Given the description of an element on the screen output the (x, y) to click on. 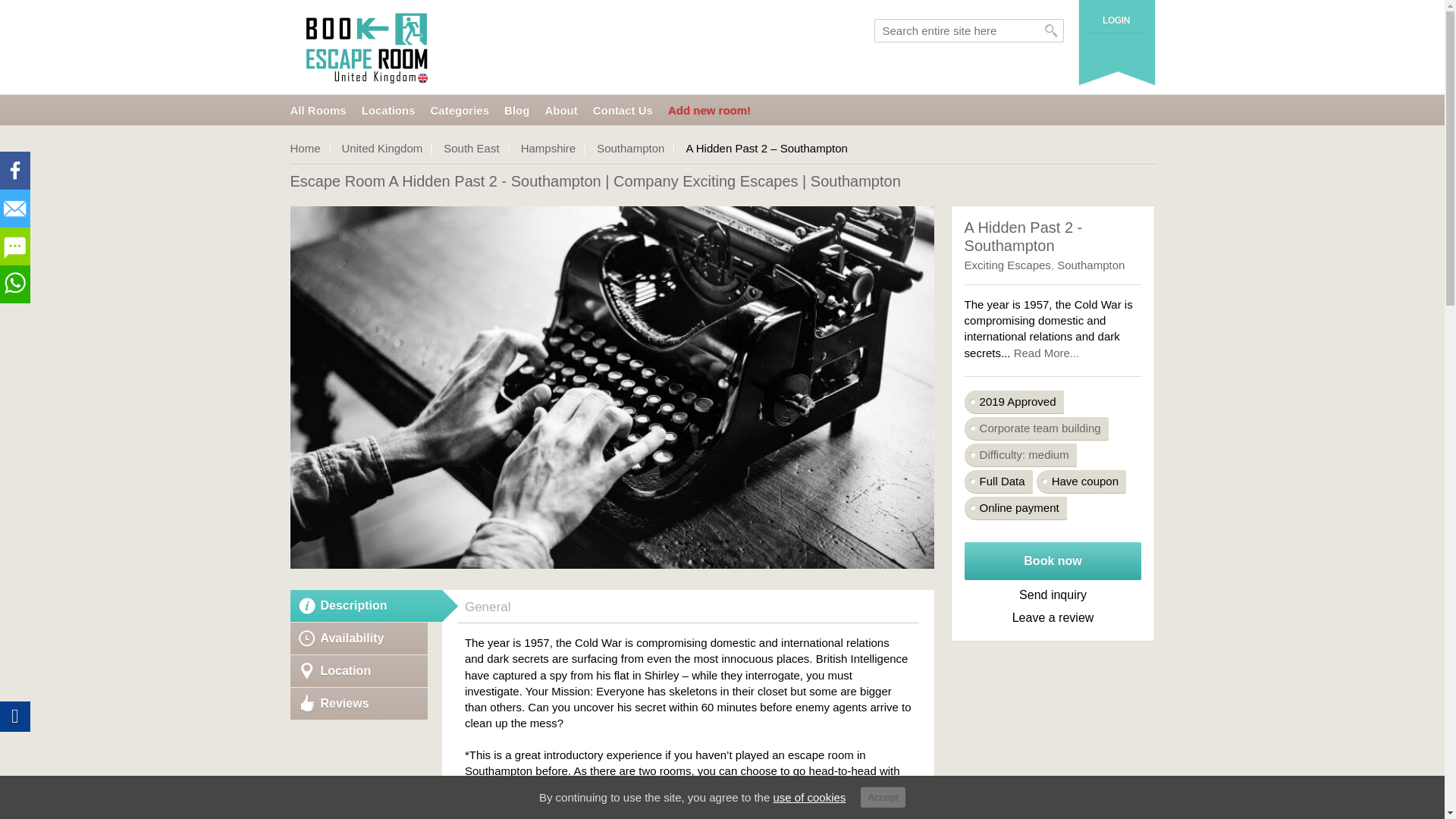
Hampshire (553, 147)
Contact Us (622, 110)
South East (476, 147)
Login (1115, 20)
United Kingdom (387, 147)
South East (476, 147)
Southampton (635, 147)
About (560, 110)
Availability (358, 638)
Hampshire (553, 147)
